Given the description of an element on the screen output the (x, y) to click on. 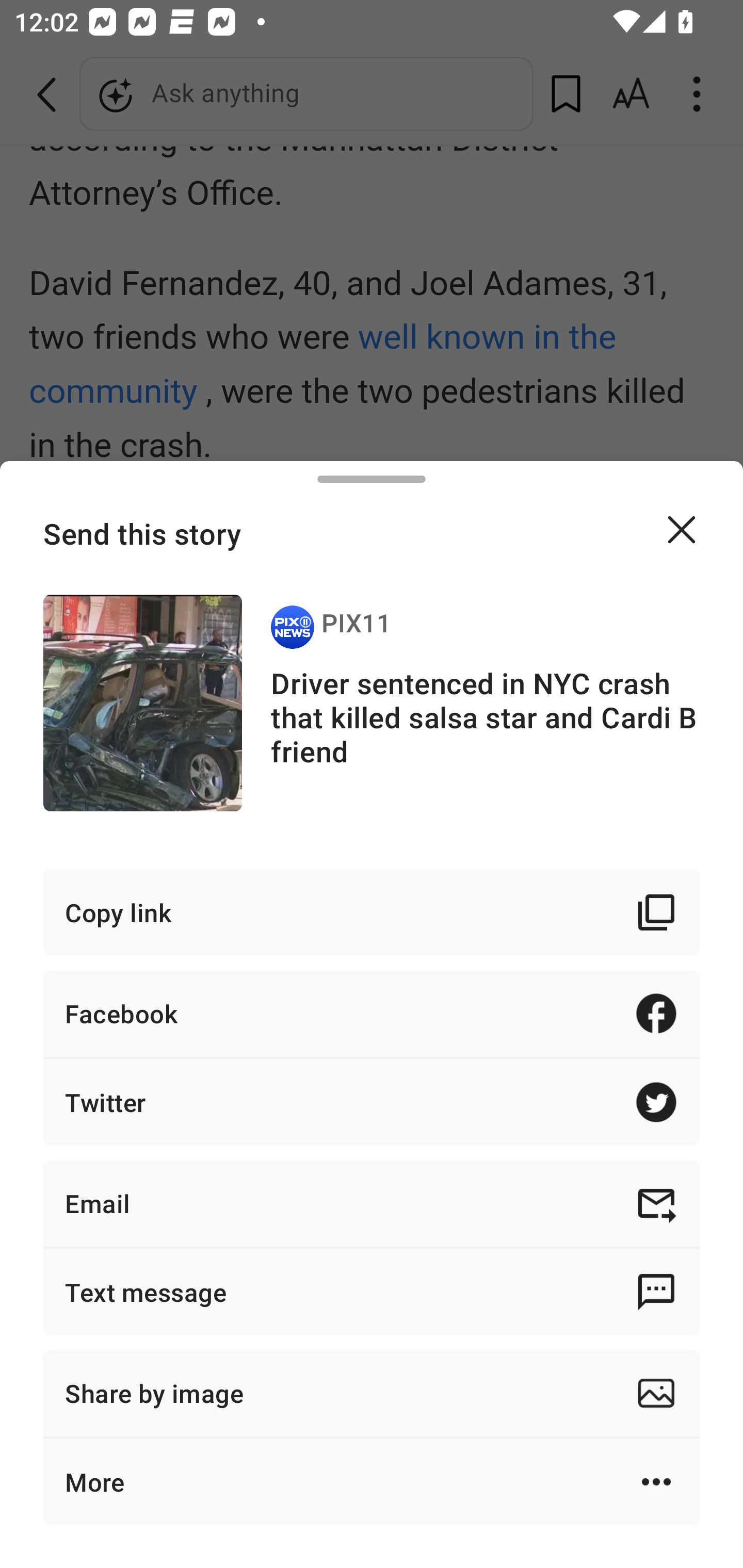
Copy link (371, 912)
Facebook (371, 1013)
Twitter (371, 1102)
Email (371, 1203)
Text message (371, 1291)
Share by image (371, 1393)
More (371, 1481)
